Given the description of an element on the screen output the (x, y) to click on. 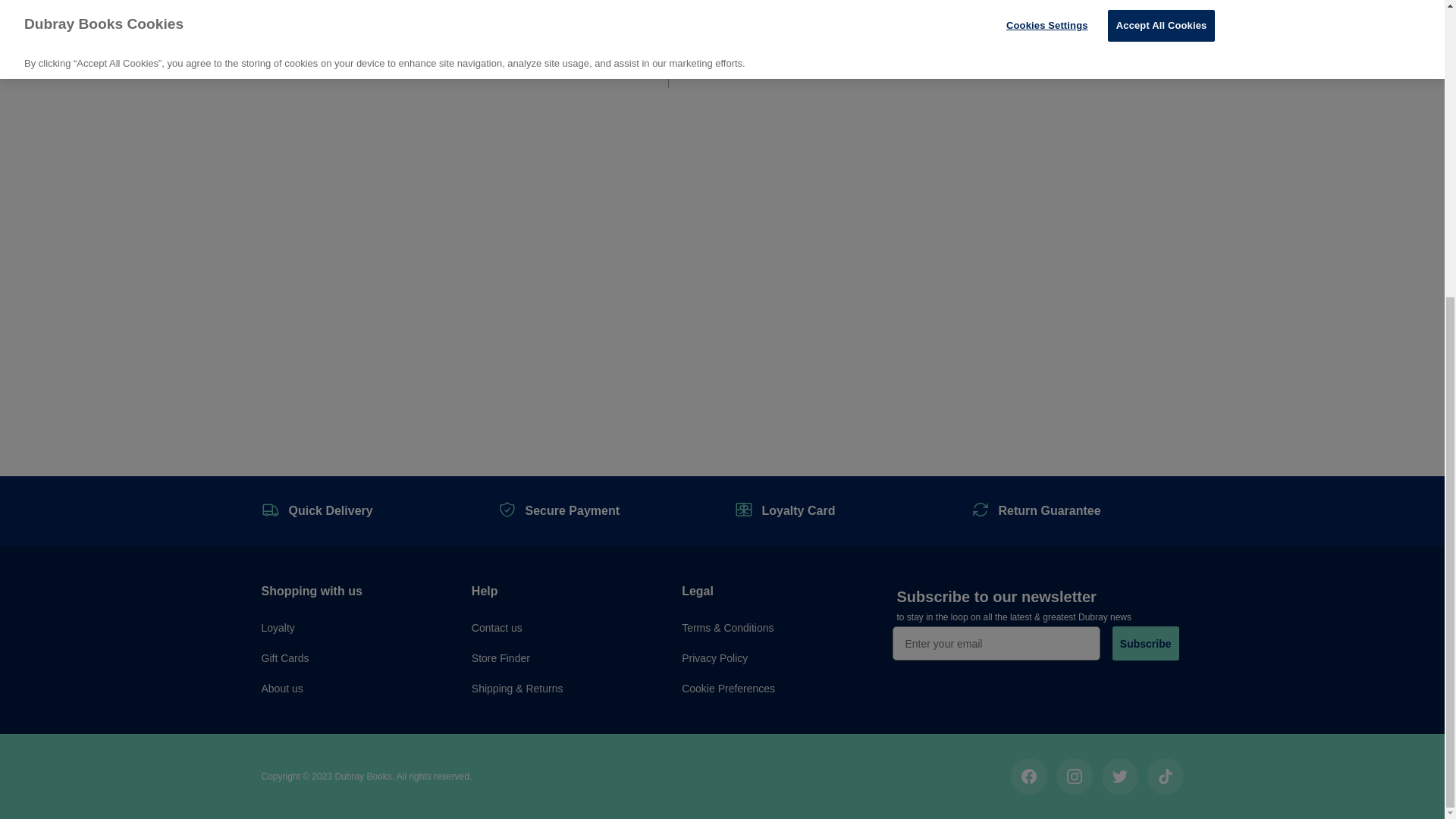
About us (281, 688)
Gift Cards (284, 657)
Store Finder (500, 657)
Facebook (1028, 776)
TikTok (1164, 776)
Contact us (496, 627)
Subscribe (1145, 643)
Privacy Policy (714, 657)
Twitter (1118, 776)
Cookie Preferences (727, 688)
Loyalty (277, 627)
Instagram (1073, 776)
